Given the description of an element on the screen output the (x, y) to click on. 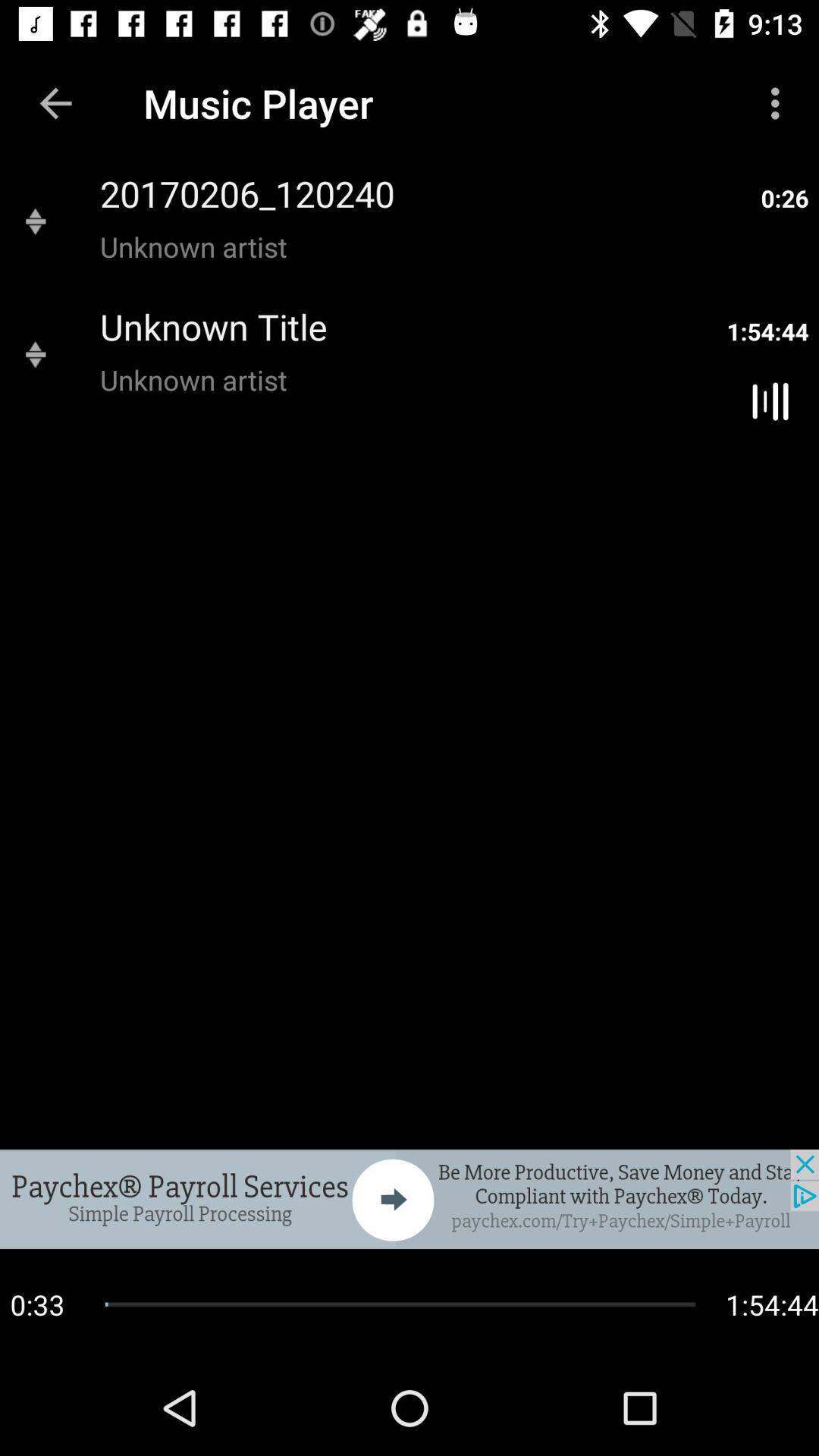
go to the next (409, 1198)
